Given the description of an element on the screen output the (x, y) to click on. 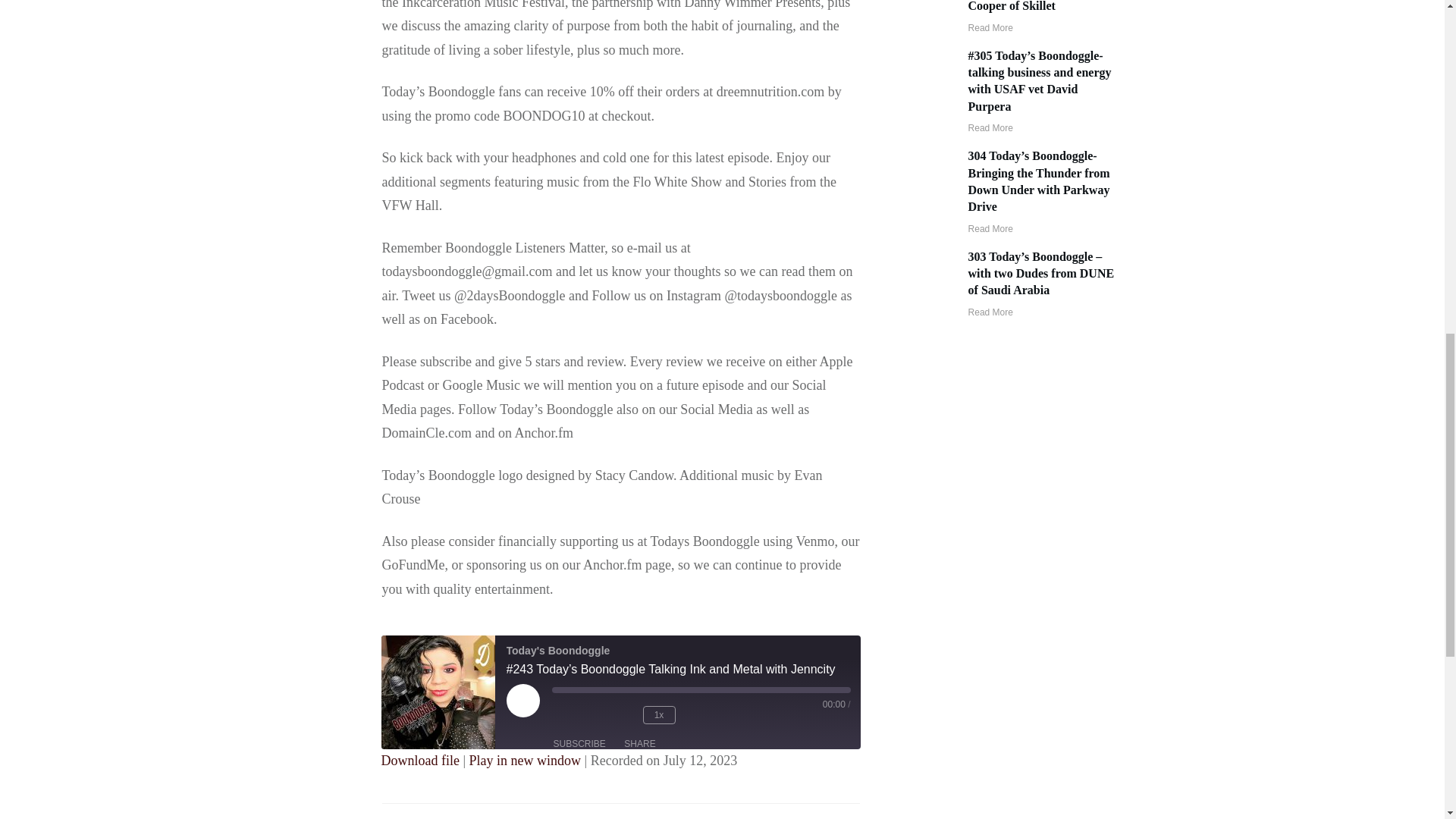
Fast Forward 30 seconds (705, 715)
Fast Forward 30 seconds (705, 715)
Download file (419, 760)
Today's Boondoggle (437, 692)
Share (638, 743)
Play Episode (539, 717)
SHARE (638, 743)
Rewind 10 seconds (619, 715)
Subscribe (579, 743)
Seek (700, 689)
